Given the description of an element on the screen output the (x, y) to click on. 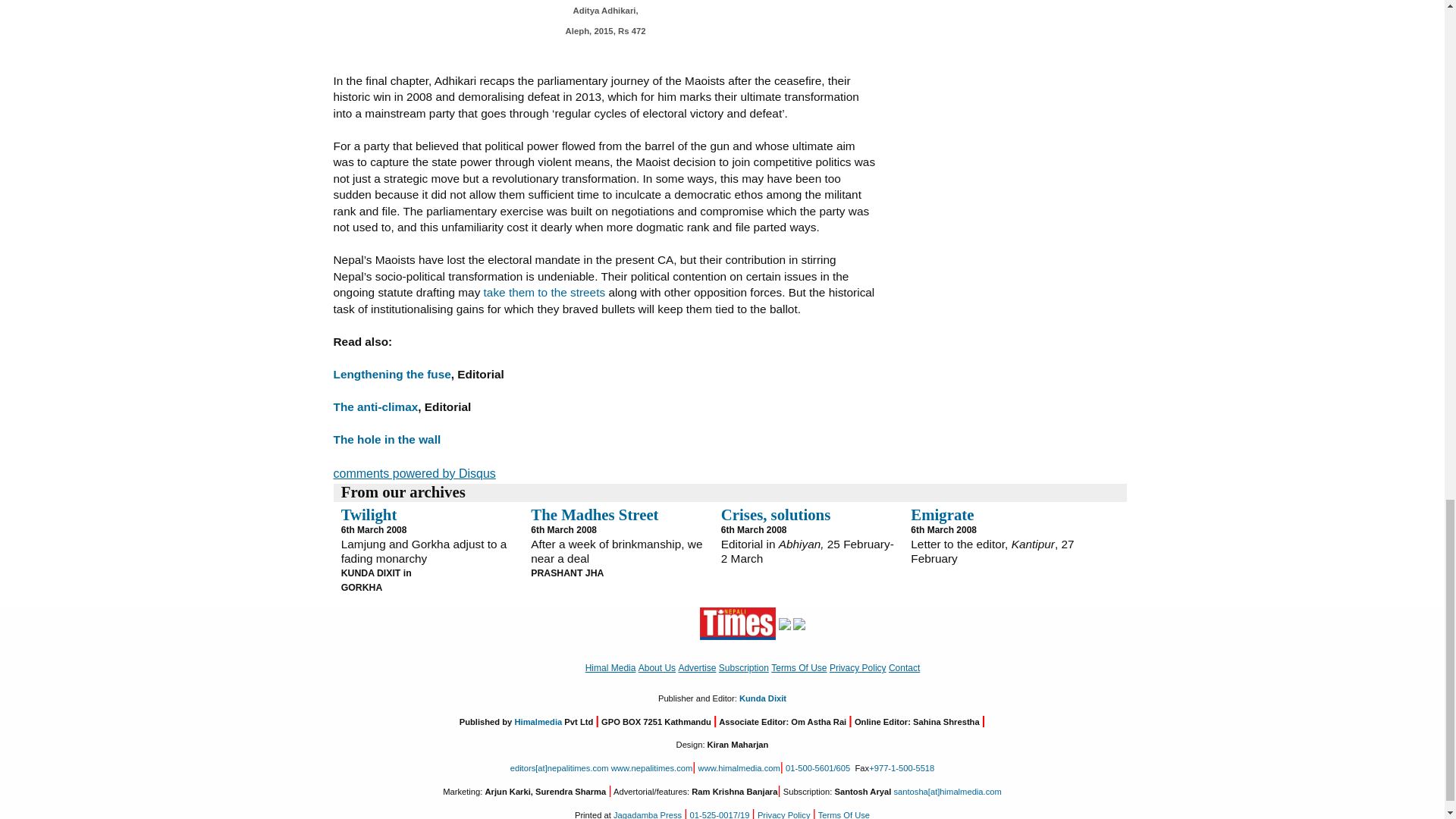
Himalkhabar (783, 623)
Nepali Times (738, 623)
Himal Media (799, 623)
